Given the description of an element on the screen output the (x, y) to click on. 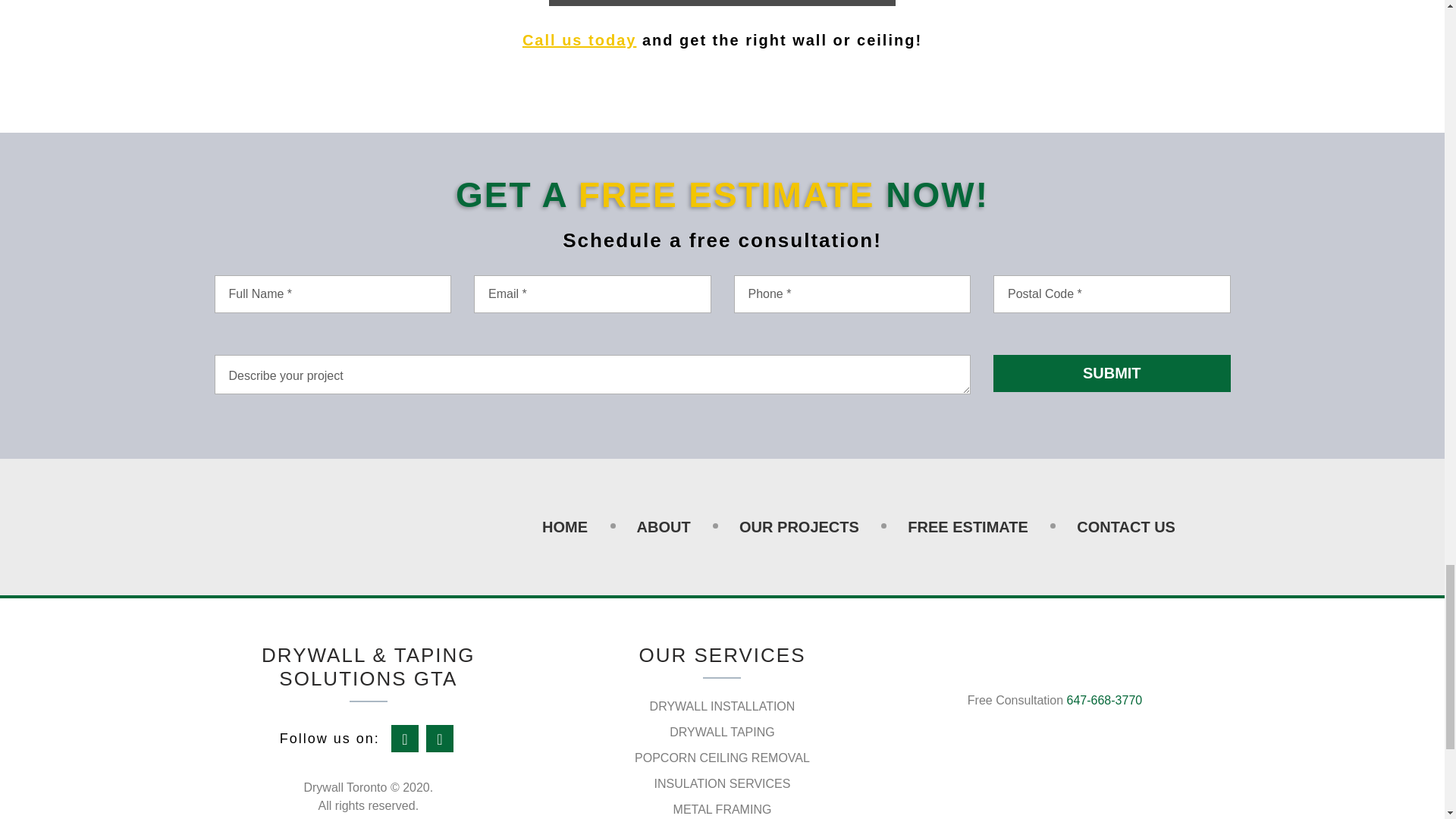
Submit (1111, 373)
METAL FRAMING (721, 809)
ABOUT (663, 526)
OUR PROJECTS (799, 526)
FREE ESTIMATE (967, 526)
DRYWALL INSTALLATION (721, 706)
Submit (1111, 373)
Call us today (579, 39)
Follow me on Instagram (439, 738)
DRYWALL TAPING (721, 731)
